Given the description of an element on the screen output the (x, y) to click on. 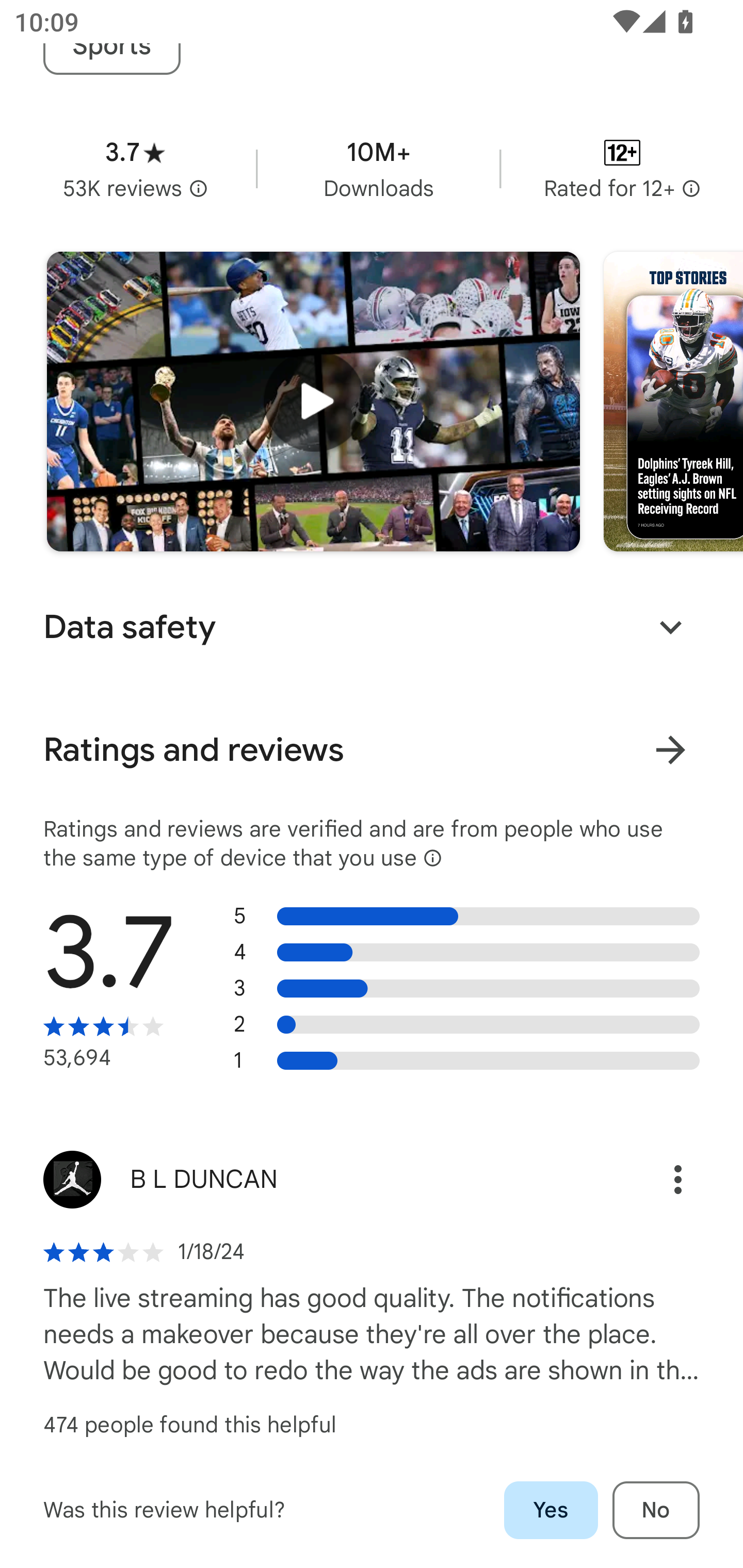
Average rating 3.7 stars in 53 thousand reviews (135, 168)
Content rating Rated for 12+ (622, 168)
Play trailer for "FOX Sports: Watch Live" (313, 401)
Data safety Expand (371, 627)
Expand (670, 627)
Ratings and reviews View all ratings and reviews (371, 750)
View all ratings and reviews (670, 750)
Options (655, 1179)
Yes (550, 1510)
No (655, 1510)
